Given the description of an element on the screen output the (x, y) to click on. 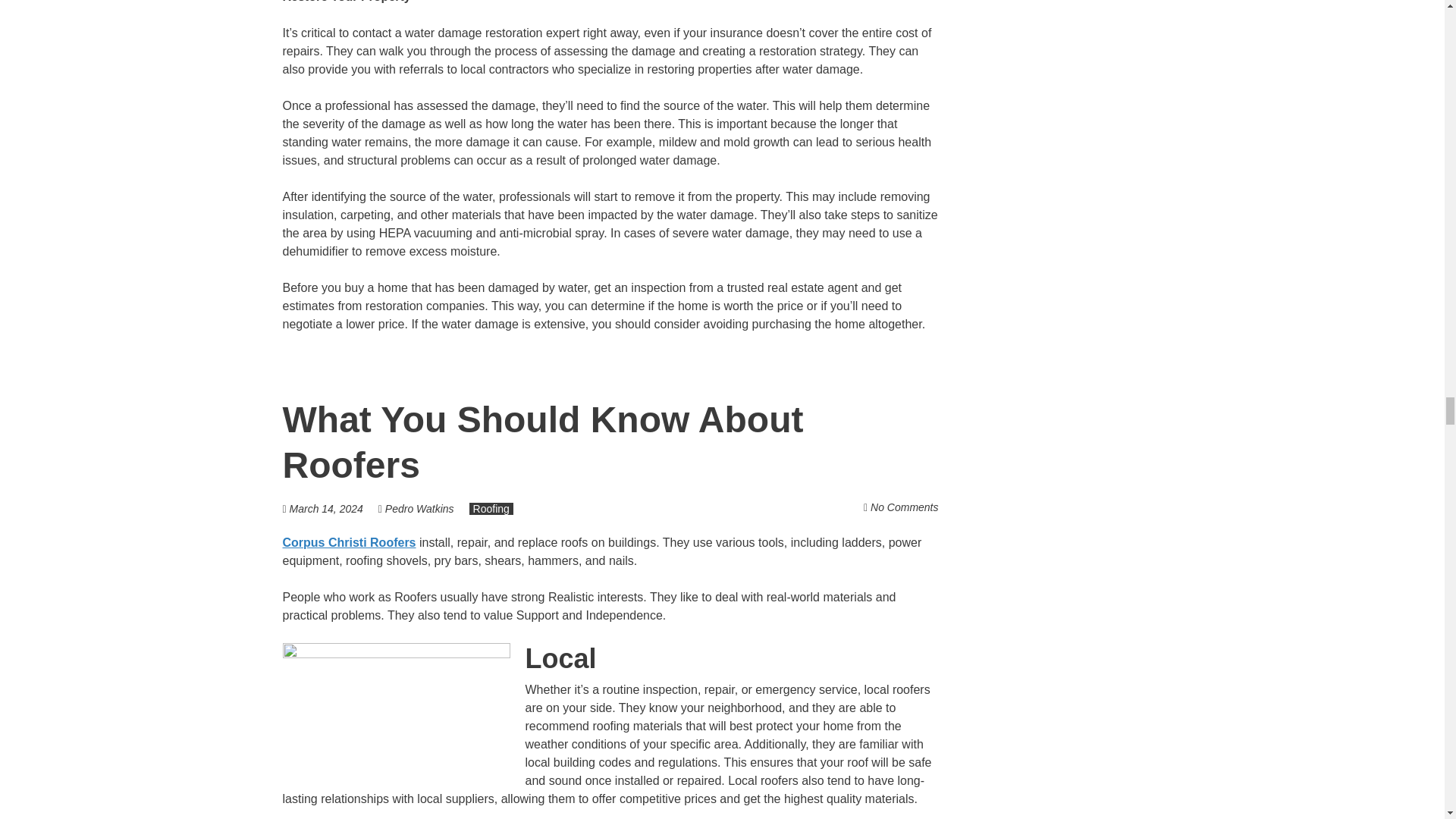
No Comments (903, 507)
March 14, 2024 (325, 508)
Pedro Watkins (419, 508)
Corpus Christi Roofers (348, 542)
What You Should Know About Roofers (542, 442)
Roofing (490, 508)
